Given the description of an element on the screen output the (x, y) to click on. 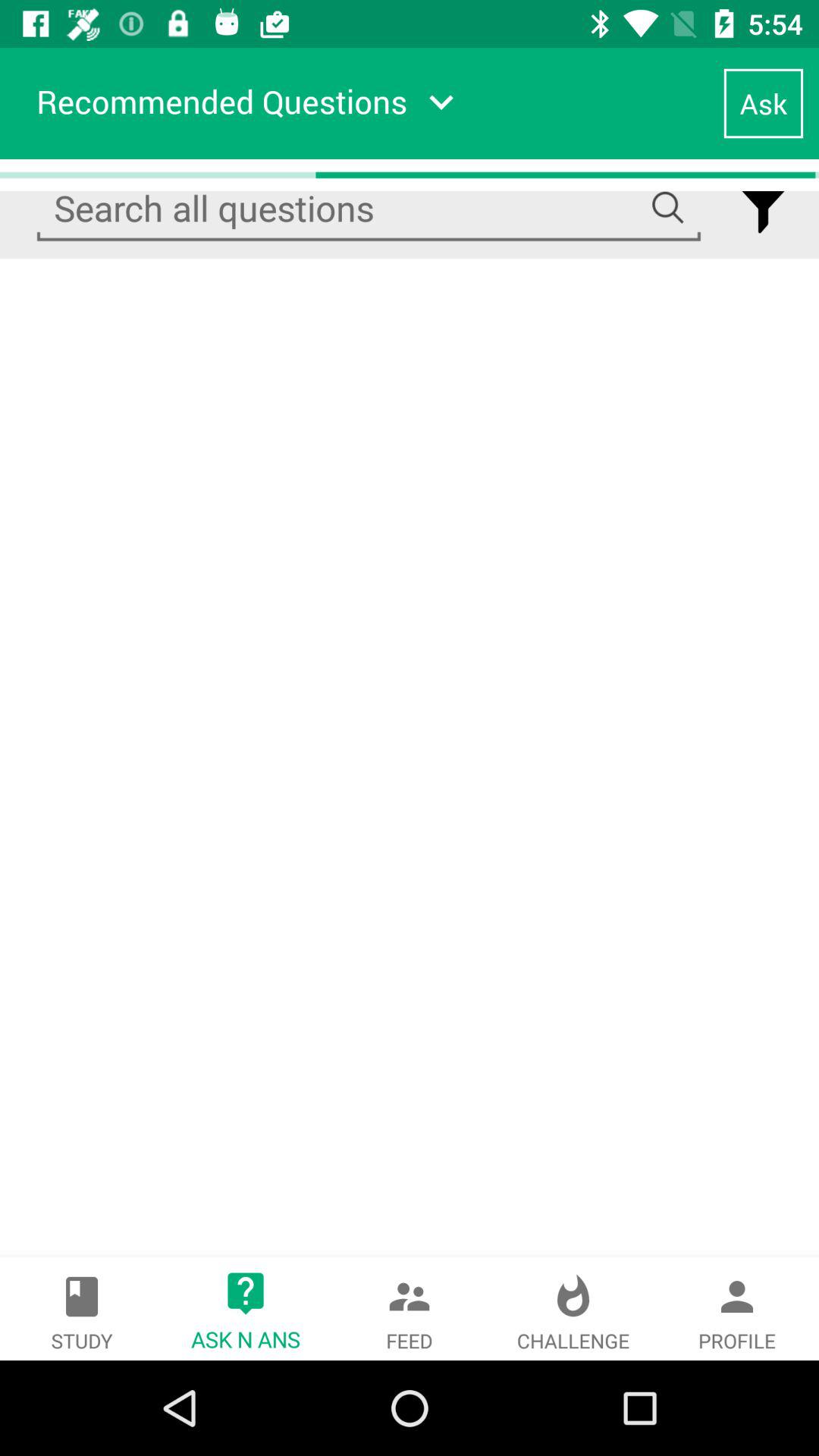
search bar (368, 208)
